Given the description of an element on the screen output the (x, y) to click on. 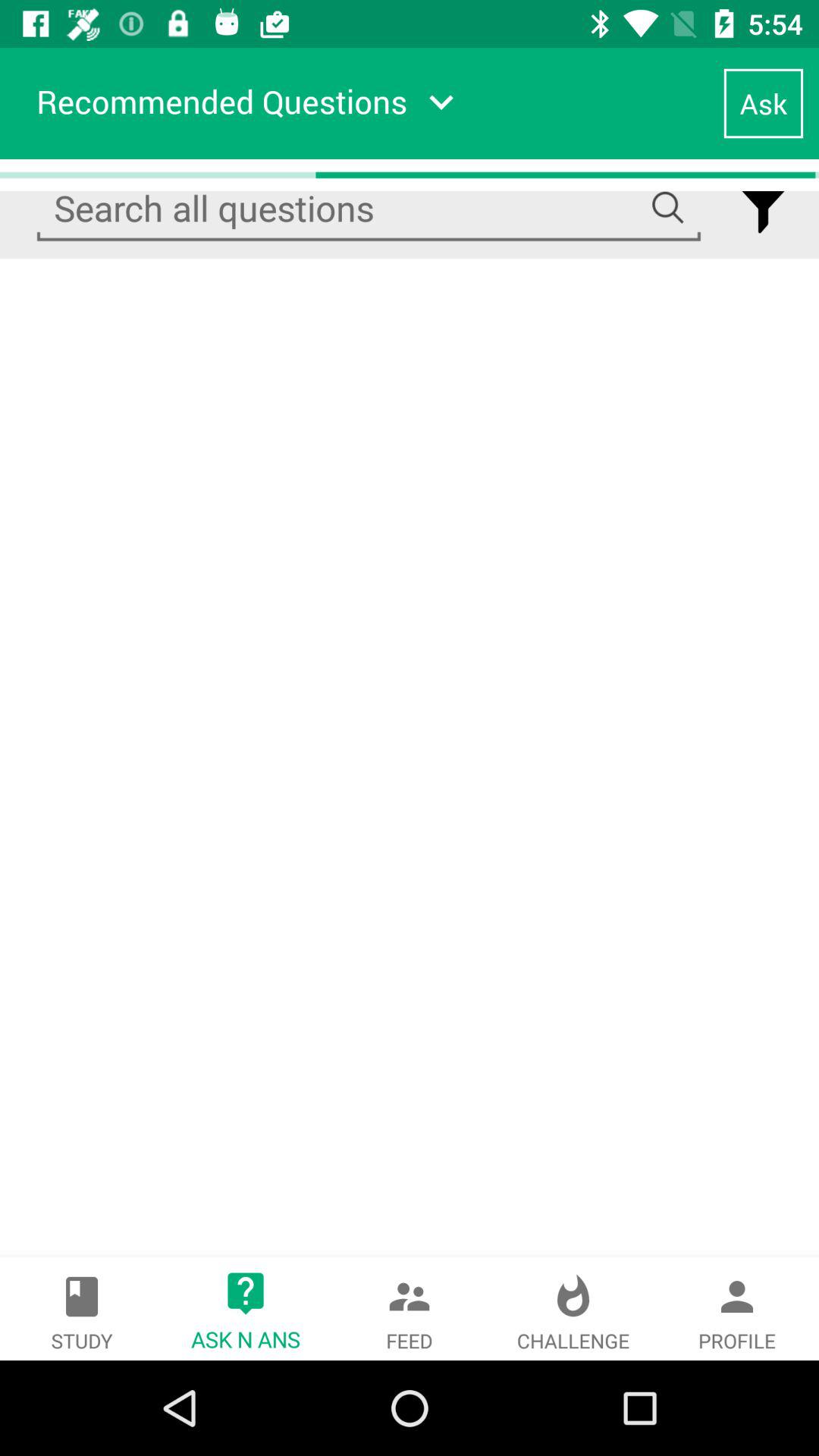
search bar (368, 208)
